Given the description of an element on the screen output the (x, y) to click on. 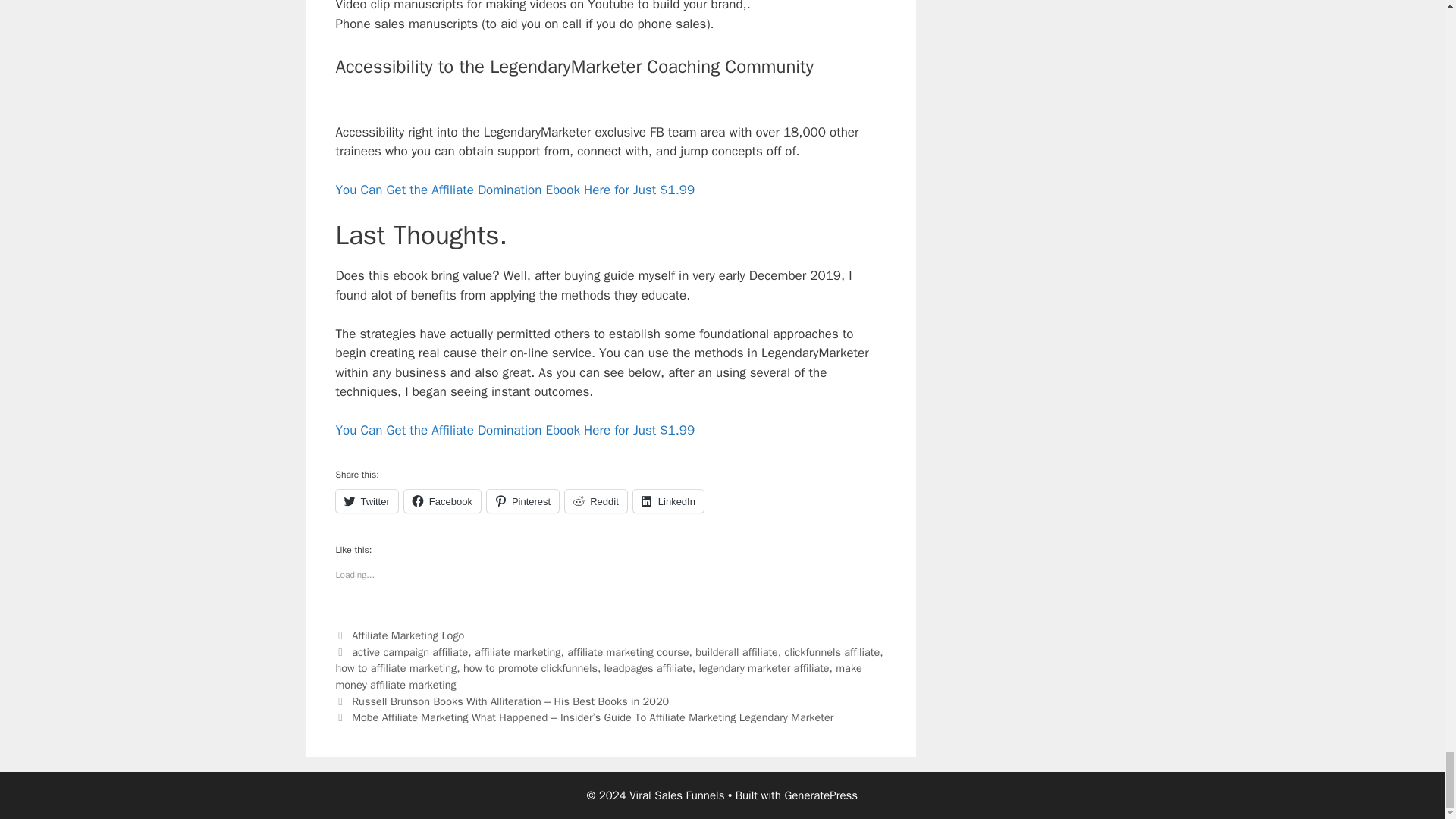
Click to share on Pinterest (522, 500)
Click to share on Reddit (595, 500)
Click to share on Facebook (442, 500)
Click to share on LinkedIn (668, 500)
Click to share on Twitter (365, 500)
